Given the description of an element on the screen output the (x, y) to click on. 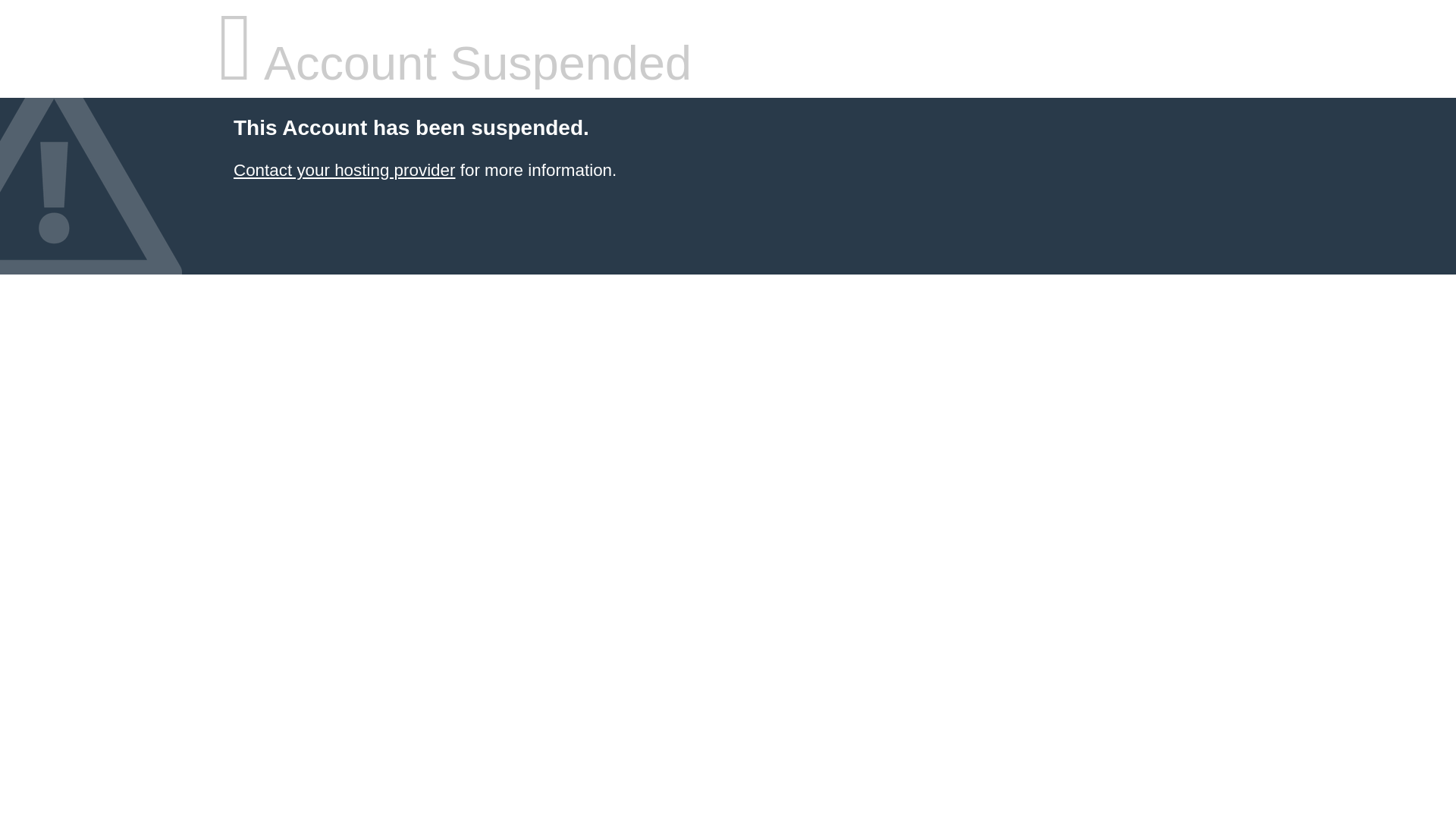
Contact your hosting provider (343, 169)
Web Hosting Canada (343, 169)
